Given the description of an element on the screen output the (x, y) to click on. 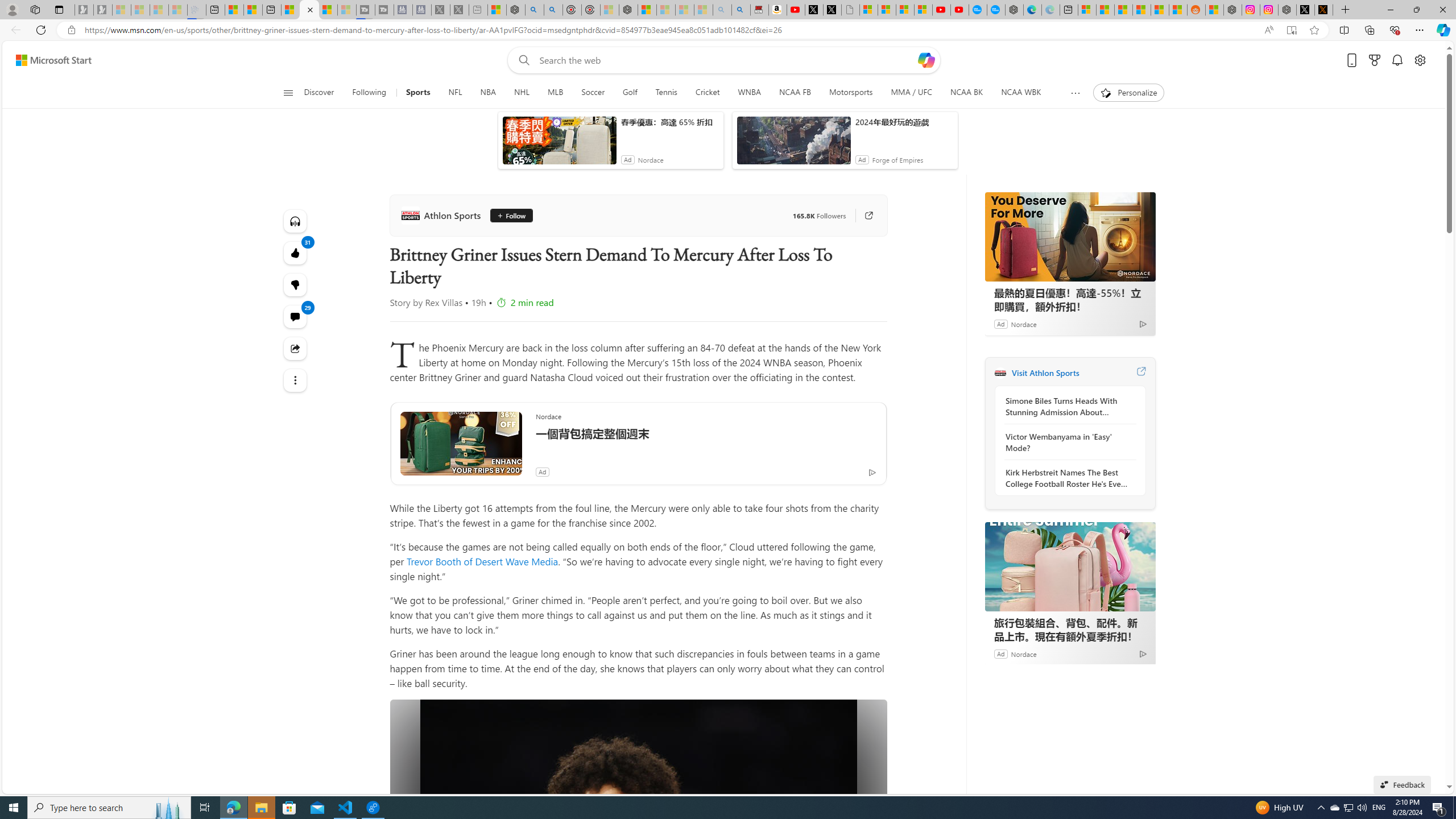
Amazon Echo Dot PNG - Search Images (740, 9)
Shanghai, China Weather trends | Microsoft Weather (1178, 9)
Personal Profile (12, 9)
Trevor Booth of Desert Wave Media (482, 561)
Split screen (1344, 29)
Nordace - Nordace has arrived Hong Kong (1013, 9)
X (831, 9)
See more (295, 380)
Cricket (707, 92)
Listen to this article (295, 220)
31 Like (295, 252)
NBA (488, 92)
poe ++ standard - Search (552, 9)
